Given the description of an element on the screen output the (x, y) to click on. 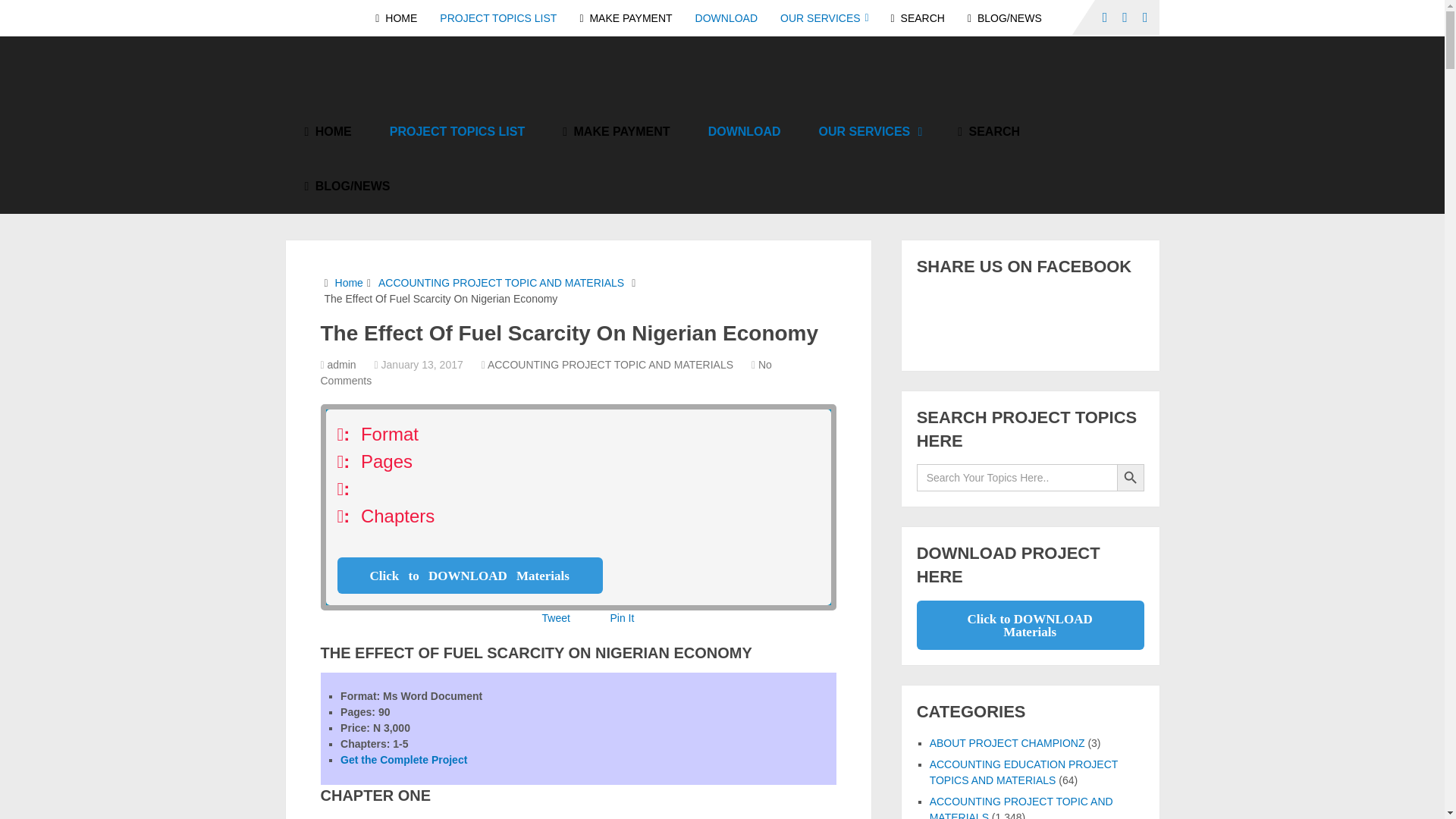
PROJECT TOPICS LIST (457, 131)
MAKE PAYMENT (615, 131)
OUR SERVICES (869, 131)
DOWNLOAD (726, 18)
PROJECT TOPICS LIST (497, 18)
SEARCH (917, 18)
DOWNLOAD (743, 131)
OUR SERVICES (823, 18)
HOME (327, 131)
HOME (401, 18)
Posts by admin (341, 364)
SEARCH (989, 131)
Home (348, 282)
MAKE PAYMENT (624, 18)
ACCOUNTING PROJECT TOPIC AND MATERIALS (501, 282)
